Given the description of an element on the screen output the (x, y) to click on. 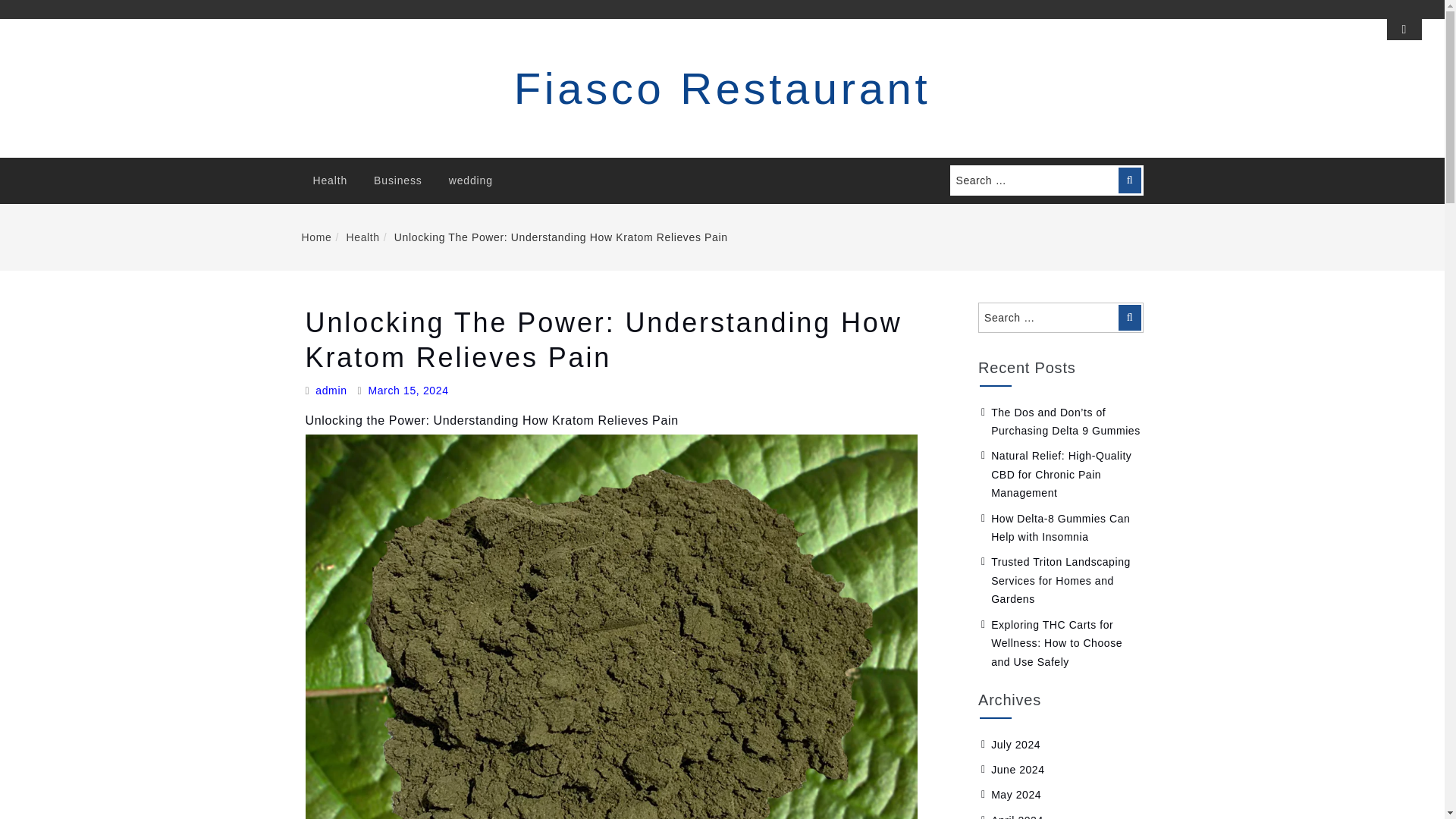
Fiasco Restaurant (722, 88)
How Delta-8 Gummies Can Help with Insomnia (1060, 527)
April 2024 (1017, 816)
March 15, 2024 (408, 390)
June 2024 (1017, 769)
May 2024 (1016, 794)
Health (330, 180)
Trusted Triton Landscaping Services for Homes and Gardens (1061, 580)
July 2024 (1016, 744)
wedding (470, 180)
